Given the description of an element on the screen output the (x, y) to click on. 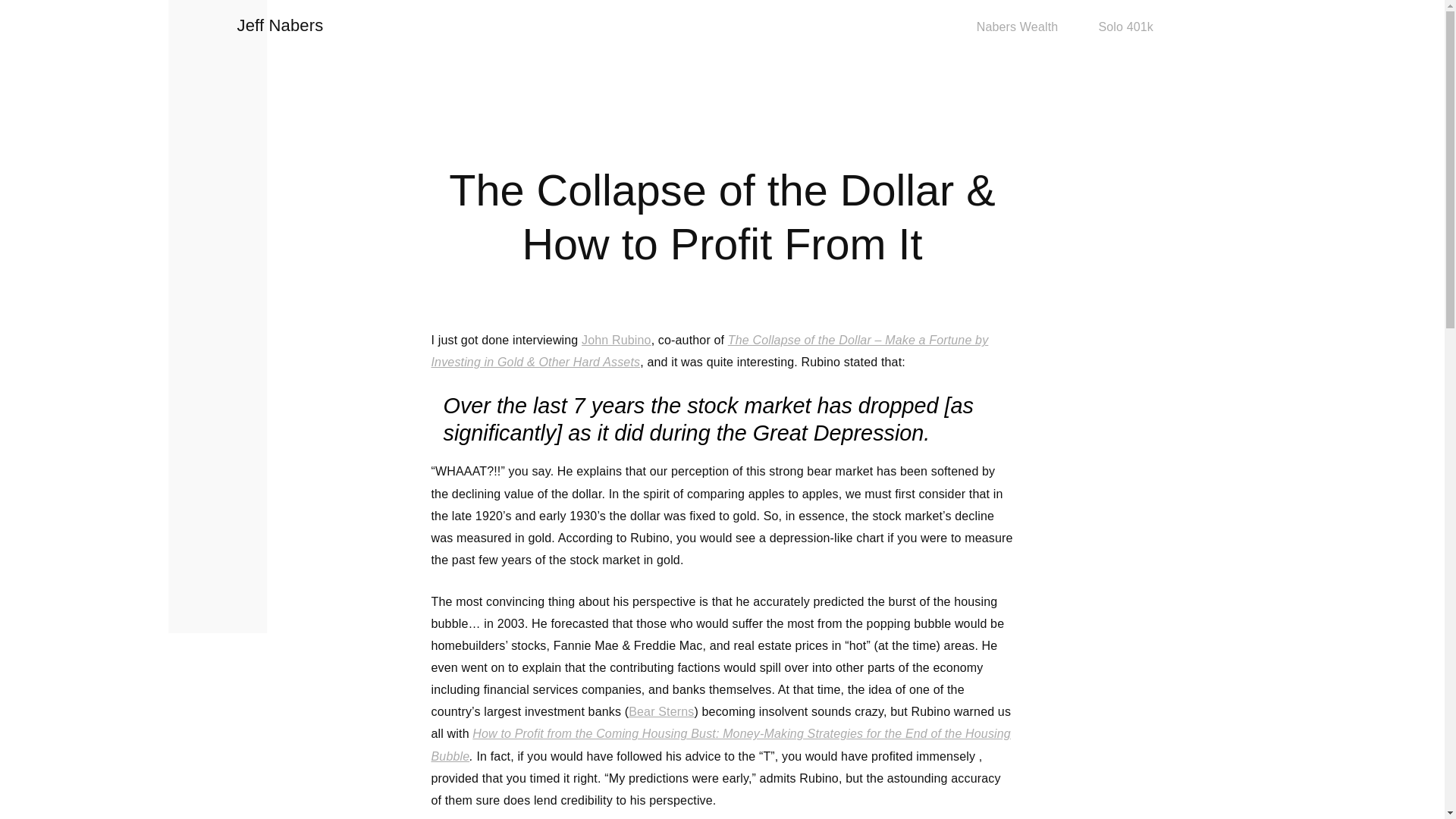
Solo 401k (1125, 26)
Jeff Nabers (279, 25)
John Rubino (615, 339)
Nabers Wealth (1017, 28)
Bear Sterns (661, 711)
